Given the description of an element on the screen output the (x, y) to click on. 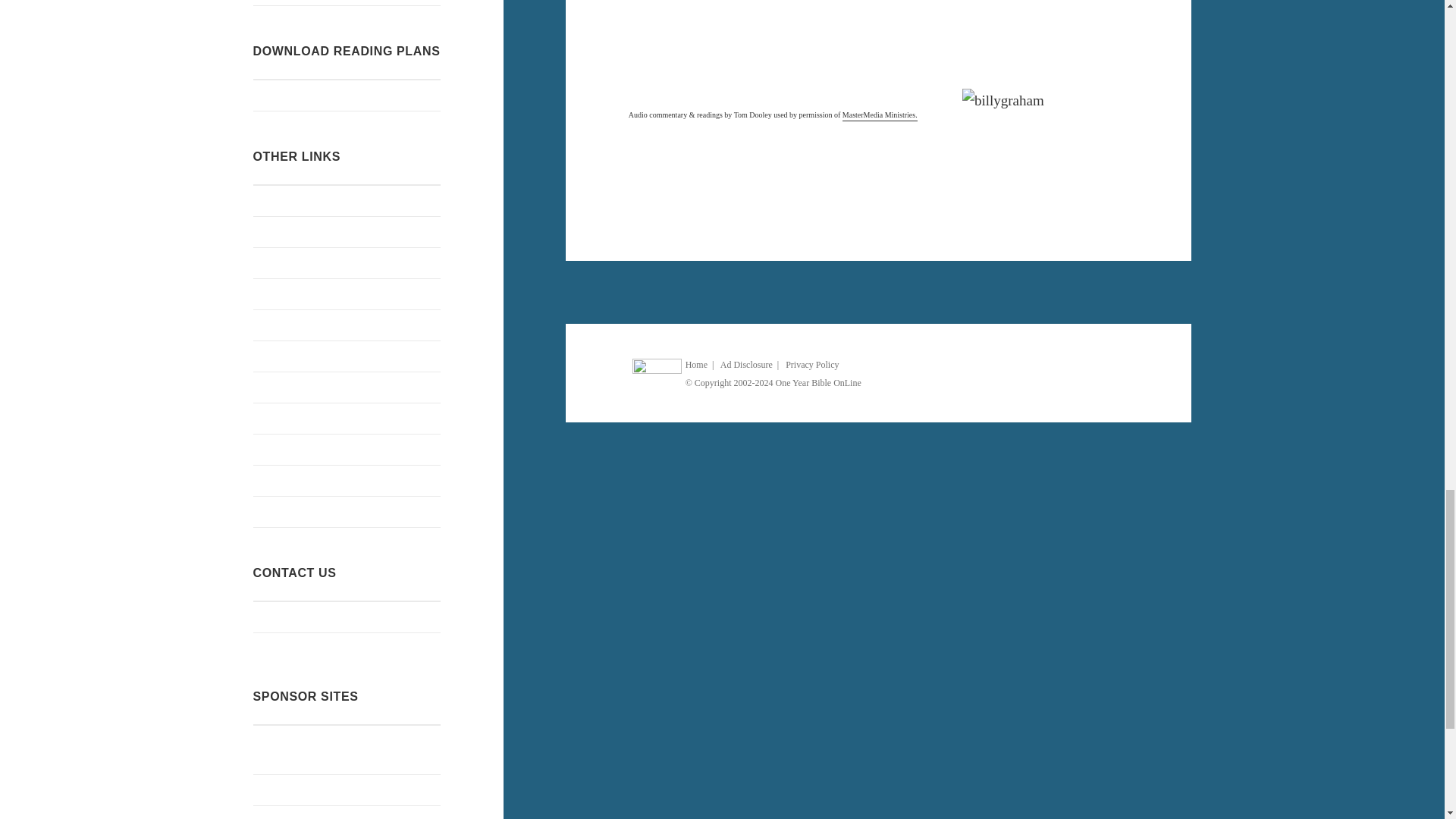
RSS Feeds (347, 232)
Download Custom Reading Plans (347, 95)
MasterMedia.org (880, 112)
Benefits Of Fasting (347, 387)
Newsletter Sign Up (347, 200)
One Year Bible Blog (347, 356)
December (347, 2)
What The Bible Says About (347, 263)
Who God Says I Am (347, 325)
Where To Look In Times Of Need (347, 294)
